Given the description of an element on the screen output the (x, y) to click on. 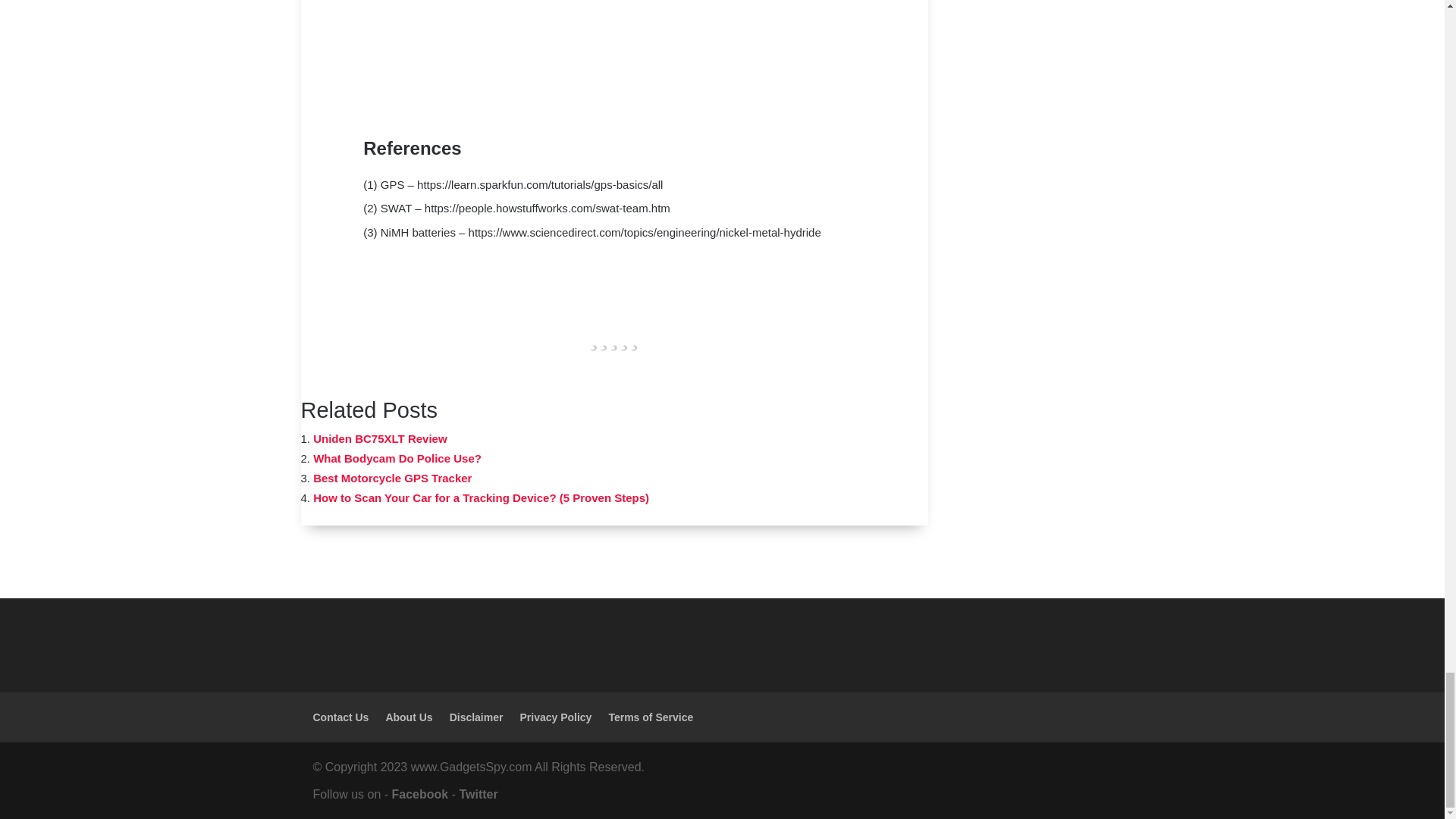
What Bodycam Do Police Use? (397, 458)
Uniden BC75XLT Review (379, 438)
Best Motorcycle GPS Tracker (392, 477)
